Given the description of an element on the screen output the (x, y) to click on. 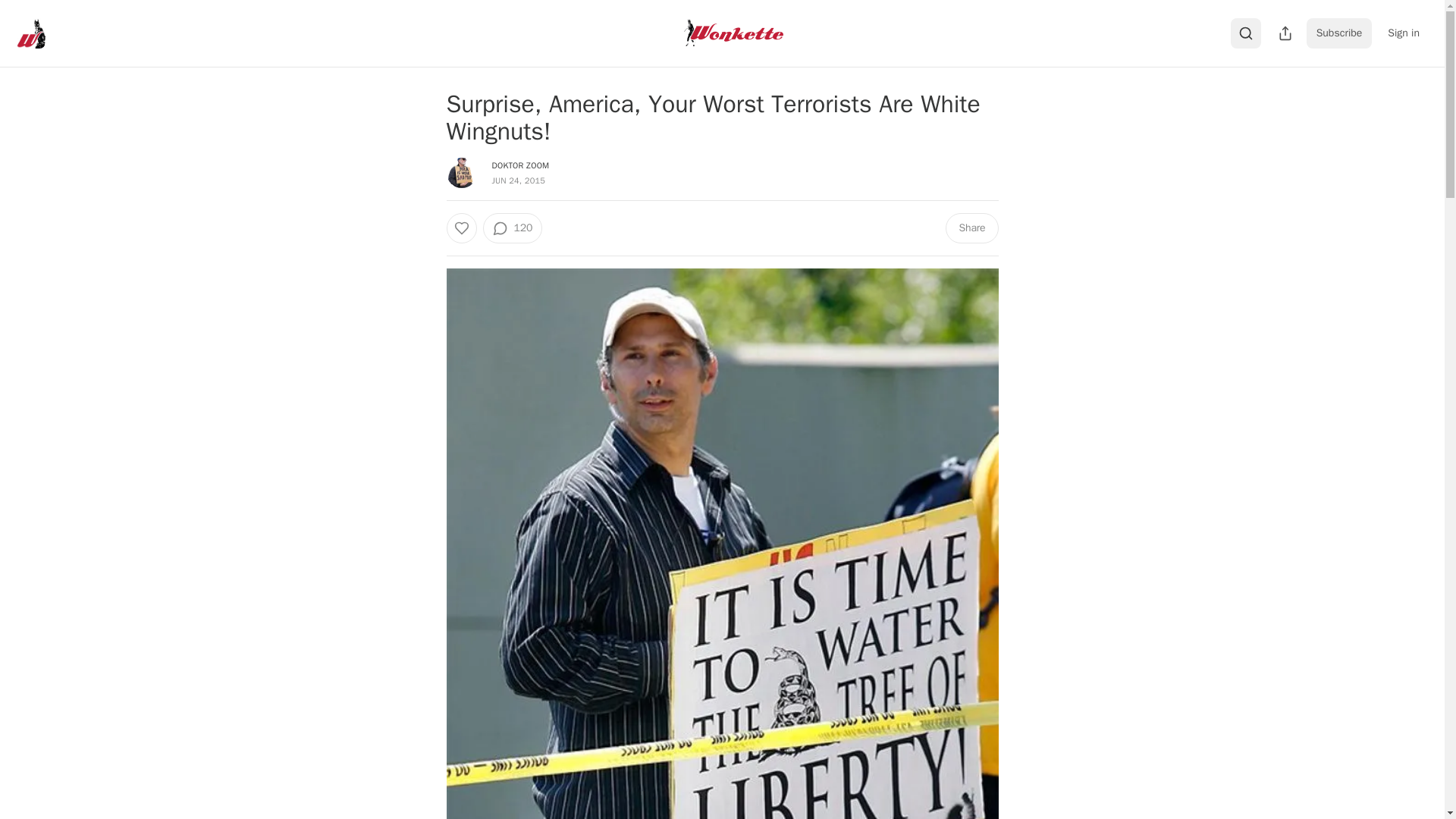
Sign in (1403, 33)
Share (970, 227)
DOKTOR ZOOM (520, 164)
120 (511, 227)
Subscribe (1339, 33)
